Given the description of an element on the screen output the (x, y) to click on. 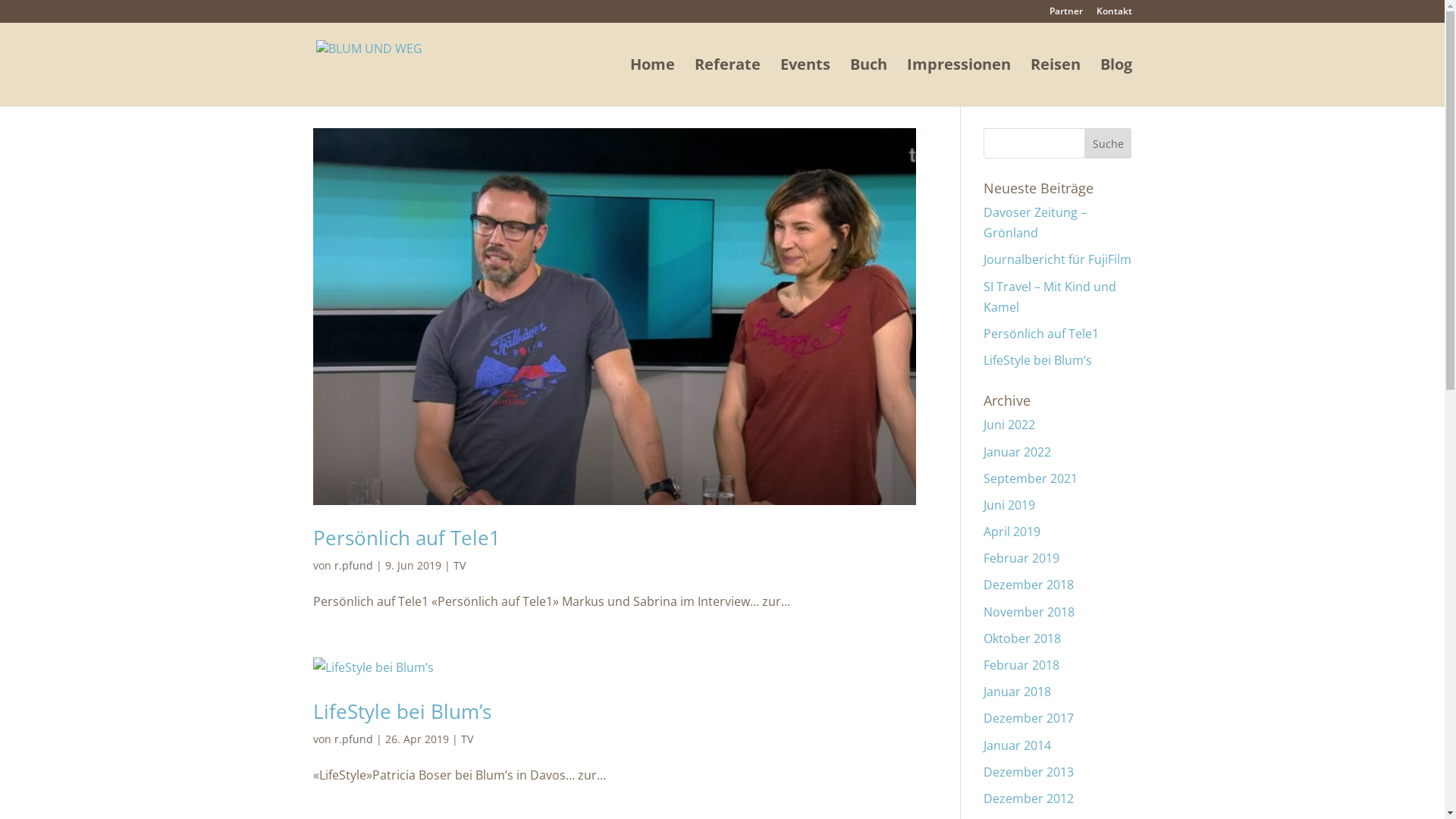
Kontakt Element type: text (1114, 14)
Partner Element type: text (1065, 14)
Events Element type: text (804, 82)
r.pfund Element type: text (352, 565)
TV Element type: text (467, 738)
April 2019 Element type: text (1011, 531)
Februar 2018 Element type: text (1021, 664)
Reisen Element type: text (1054, 82)
Home Element type: text (651, 82)
Suche Element type: text (1108, 143)
Juni 2022 Element type: text (1009, 424)
Dezember 2012 Element type: text (1028, 798)
Januar 2014 Element type: text (1017, 745)
Januar 2022 Element type: text (1017, 450)
Januar 2018 Element type: text (1017, 691)
Blog Element type: text (1115, 82)
Referate Element type: text (727, 82)
Juni 2019 Element type: text (1009, 504)
September 2021 Element type: text (1030, 478)
November 2018 Element type: text (1028, 611)
TV Element type: text (459, 565)
Dezember 2013 Element type: text (1028, 771)
Dezember 2017 Element type: text (1028, 717)
Oktober 2018 Element type: text (1021, 638)
Februar 2019 Element type: text (1021, 557)
Impressionen Element type: text (958, 82)
r.pfund Element type: text (352, 738)
Dezember 2018 Element type: text (1028, 584)
Buch Element type: text (867, 82)
